Given the description of an element on the screen output the (x, y) to click on. 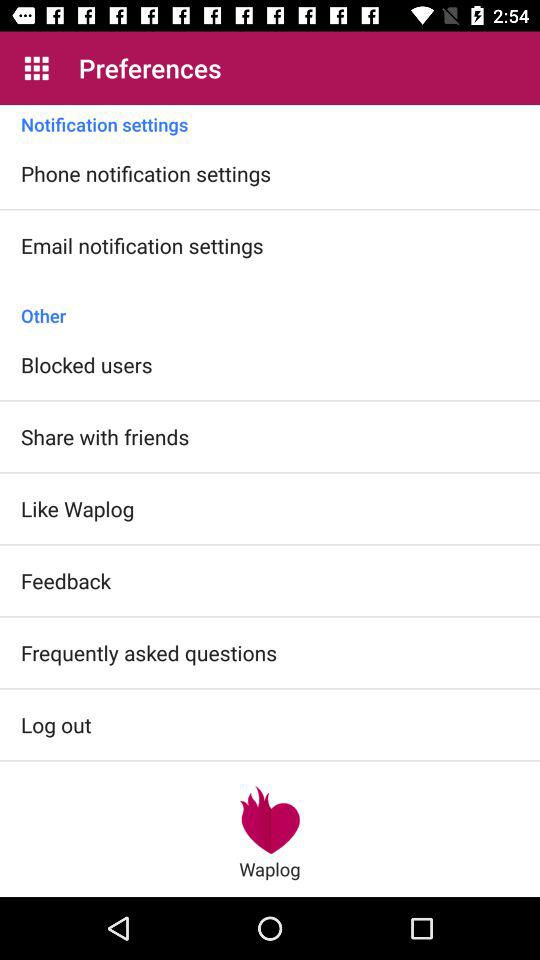
press icon above blocked users item (270, 305)
